Given the description of an element on the screen output the (x, y) to click on. 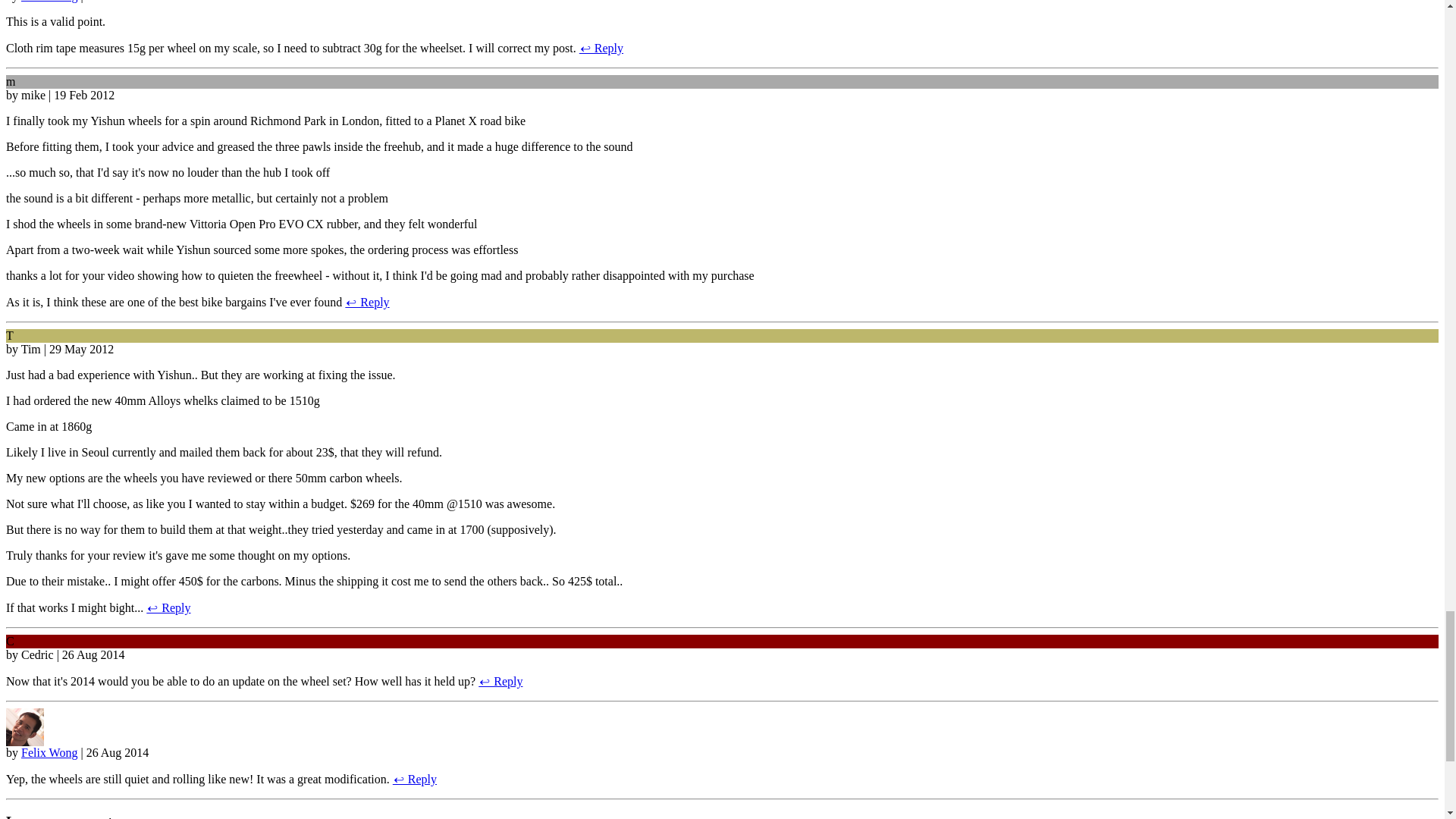
Reply to Tim (168, 607)
Felix Wong (49, 752)
Reply to Cedric (500, 680)
Reply to Felix Wong (414, 779)
Bio for Felix Wong (24, 741)
Felix Wong (49, 1)
Reply to mike (366, 301)
Reply to Felix (601, 47)
